Given the description of an element on the screen output the (x, y) to click on. 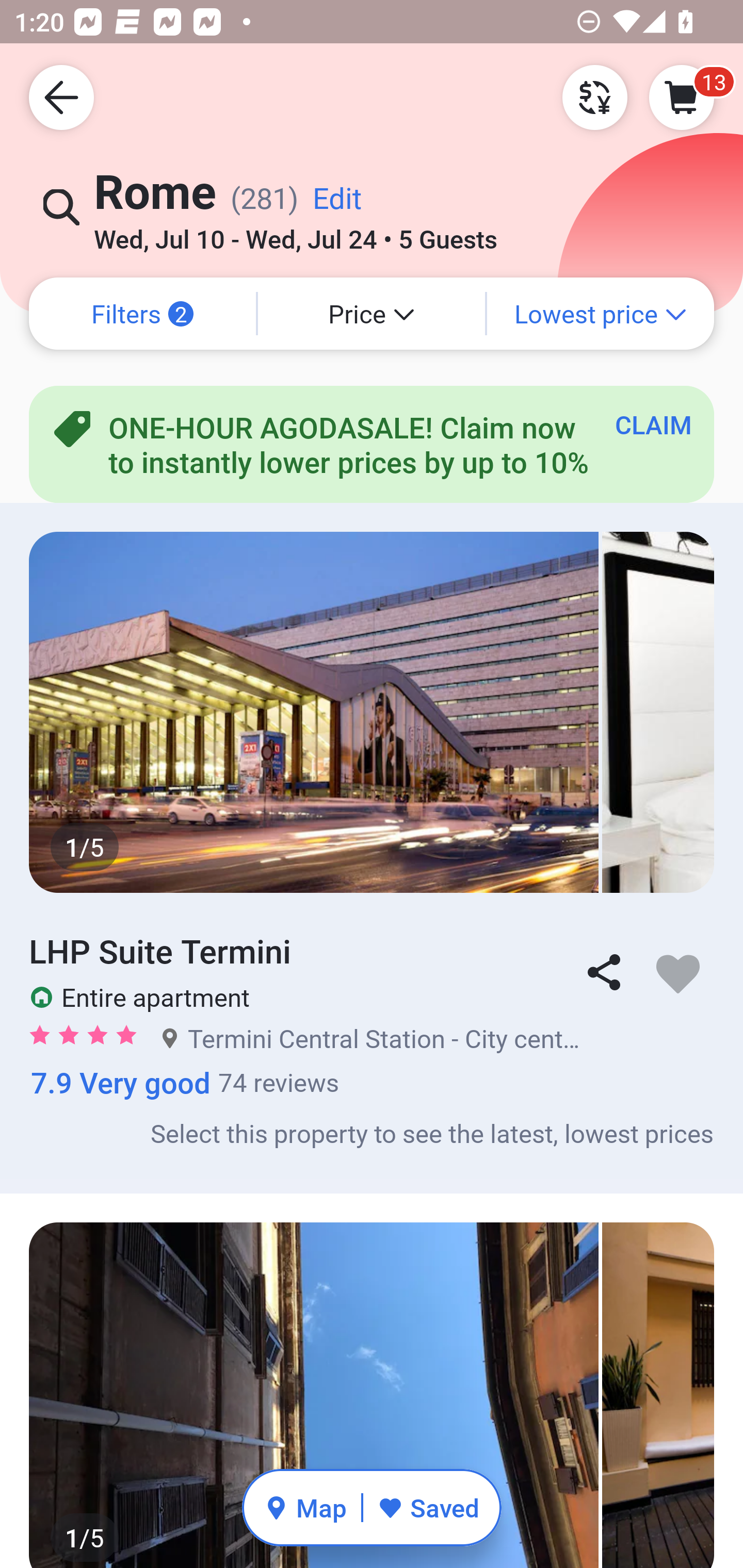
Wed, Jul 10 - Wed, Jul 24 • 5 Guests (295, 232)
Filters 2 (141, 313)
Price (371, 313)
Lowest price (600, 313)
CLAIM (653, 424)
1/5 (371, 711)
1/5 (371, 1395)
Map (305, 1507)
Saved (428, 1507)
